Given the description of an element on the screen output the (x, y) to click on. 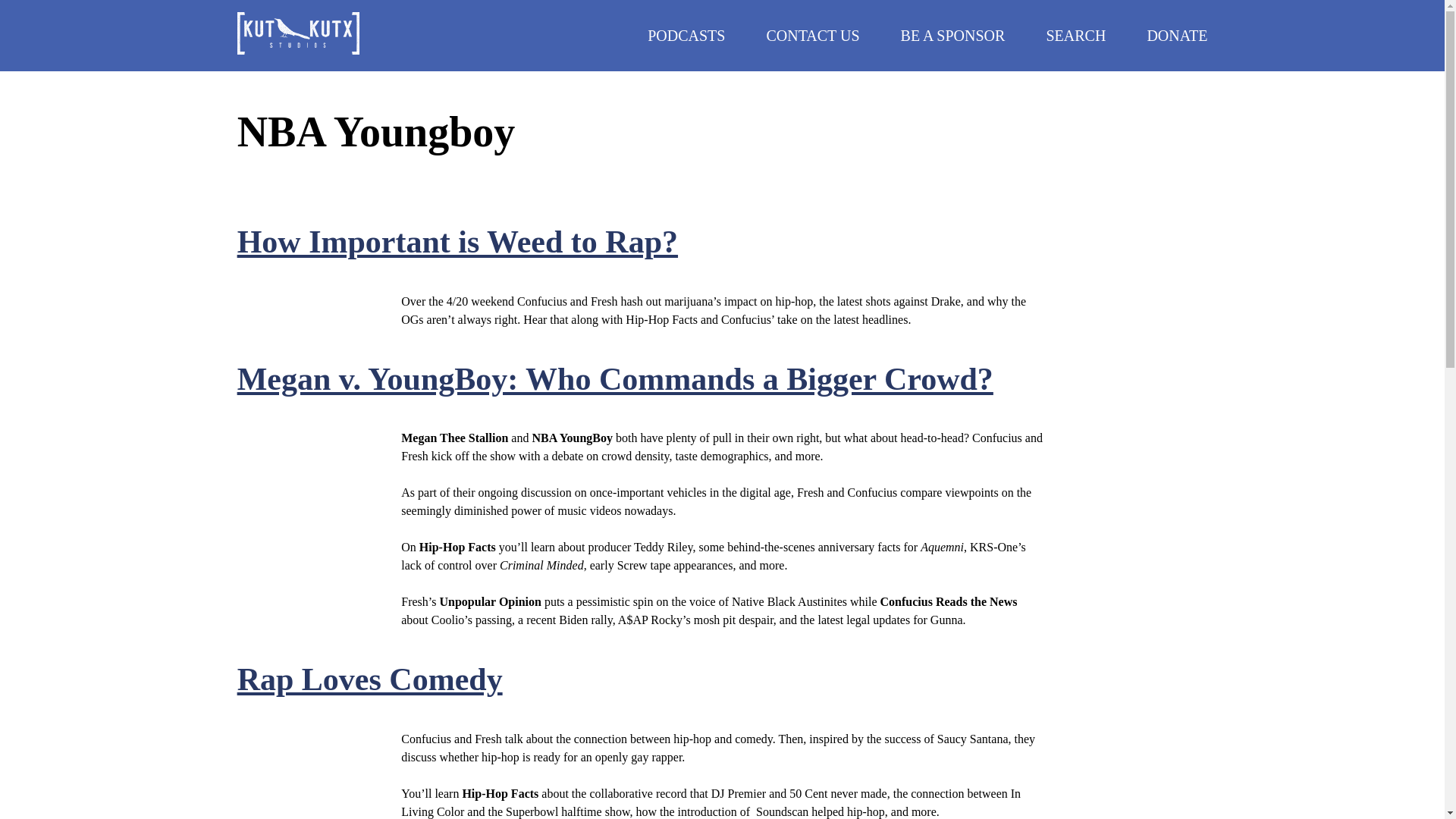
BE A SPONSOR (953, 35)
SEARCH (1075, 35)
CONTACT US (812, 35)
Megan v. YoungBoy: Who Commands a Bigger Crowd? (614, 378)
PODCASTS (686, 35)
Rap Loves Comedy (369, 678)
DONATE (1177, 35)
How Important is Weed to Rap? (457, 241)
